Given the description of an element on the screen output the (x, y) to click on. 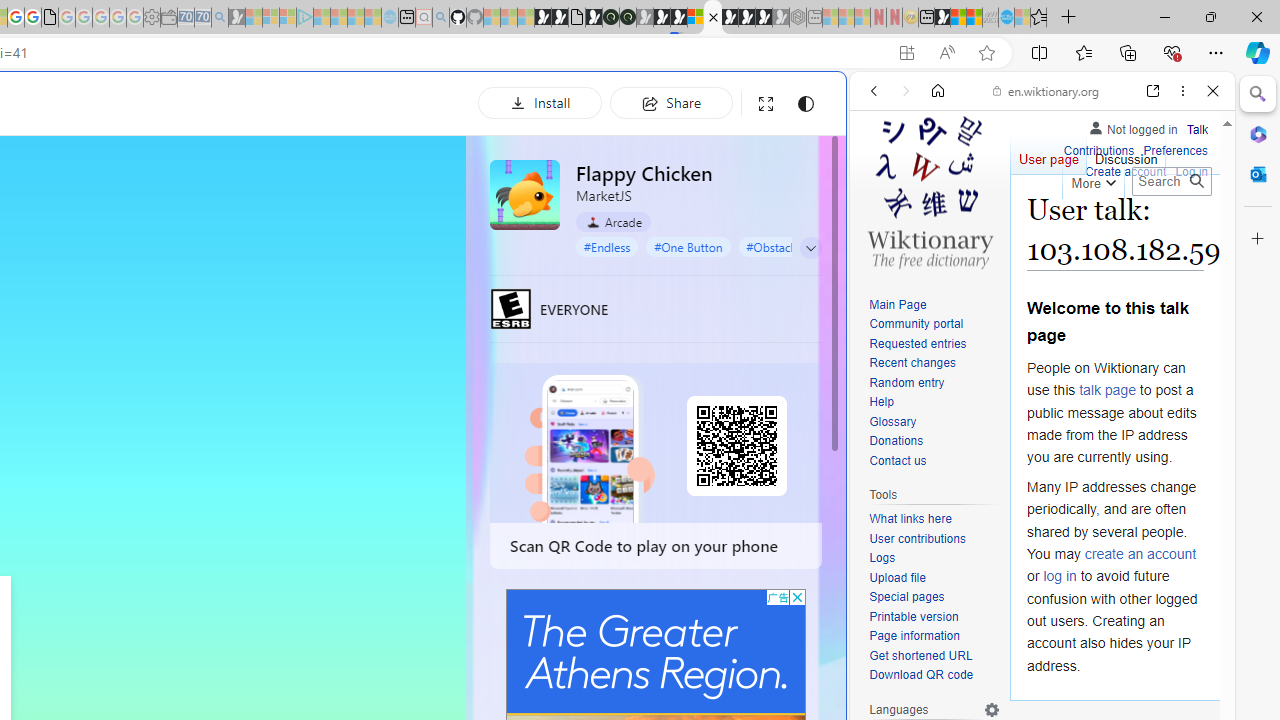
Preferences (1175, 148)
Preferences (1175, 151)
Donations (934, 442)
Requested entries (917, 343)
Preferences (1189, 228)
Flappy Chicken (525, 194)
Random entry (934, 382)
Recent changes (912, 362)
Change to dark mode (805, 103)
Page information (914, 636)
Play Cave FRVR in your browser | Games from Microsoft Start (661, 17)
